Given the description of an element on the screen output the (x, y) to click on. 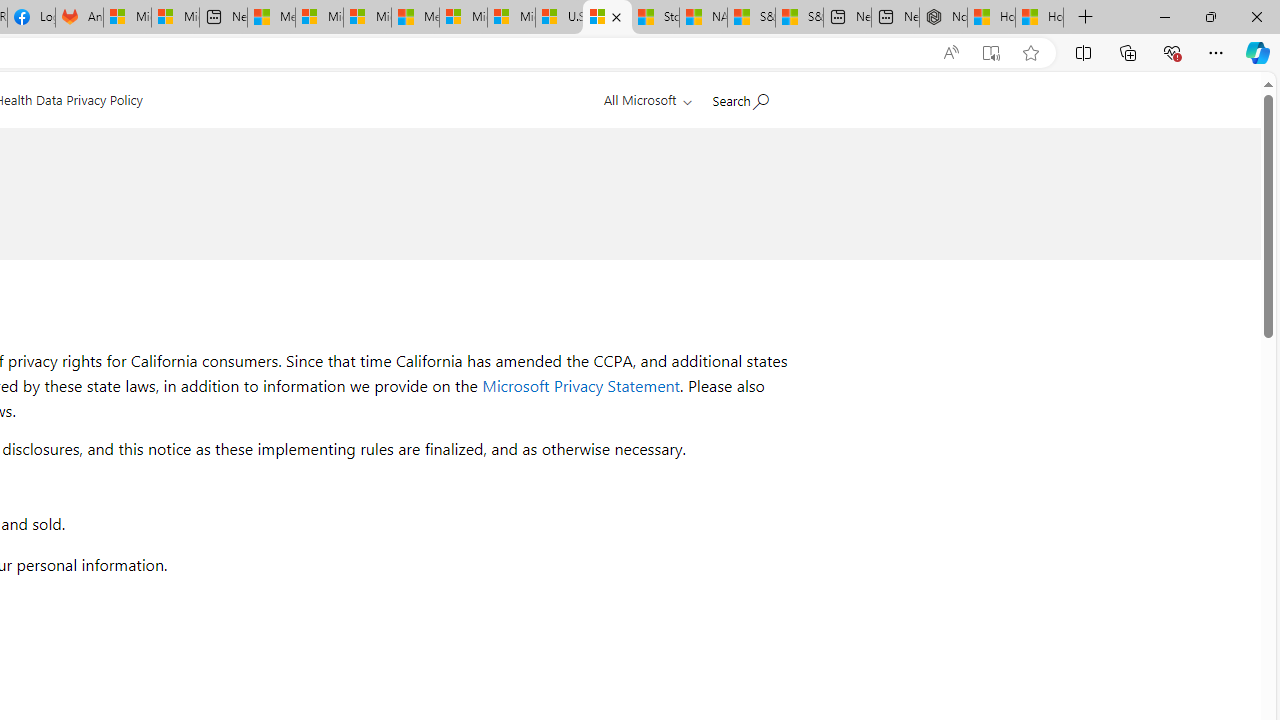
Enter Immersive Reader (F9) (991, 53)
Minimize (1164, 16)
Browser essentials (1171, 52)
Close (1256, 16)
New Tab (1085, 17)
Search Microsoft.com (740, 97)
Copilot (Ctrl+Shift+.) (1258, 52)
Add this page to favorites (Ctrl+D) (1030, 53)
How to Use a Monitor With Your Closed Laptop (1039, 17)
Microsoft account | Privacy (319, 17)
Read aloud this page (Ctrl+Shift+U) (950, 53)
Settings and more (Alt+F) (1215, 52)
